Given the description of an element on the screen output the (x, y) to click on. 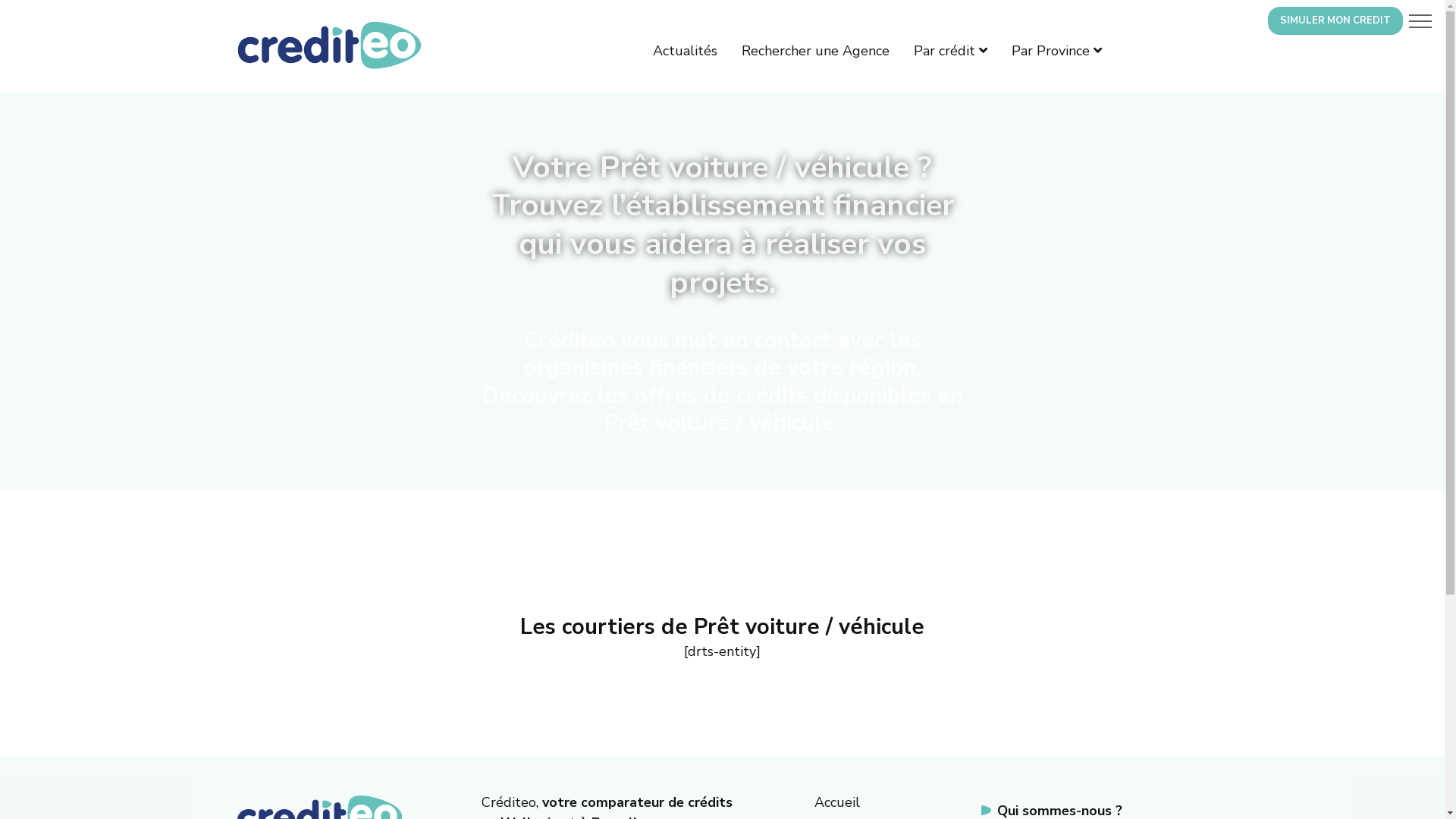
Par Province Element type: text (1056, 50)
Rechercher une Agence Element type: text (815, 50)
SIMULER MON CREDIT Element type: text (1334, 20)
Accueil Element type: text (836, 802)
